Given the description of an element on the screen output the (x, y) to click on. 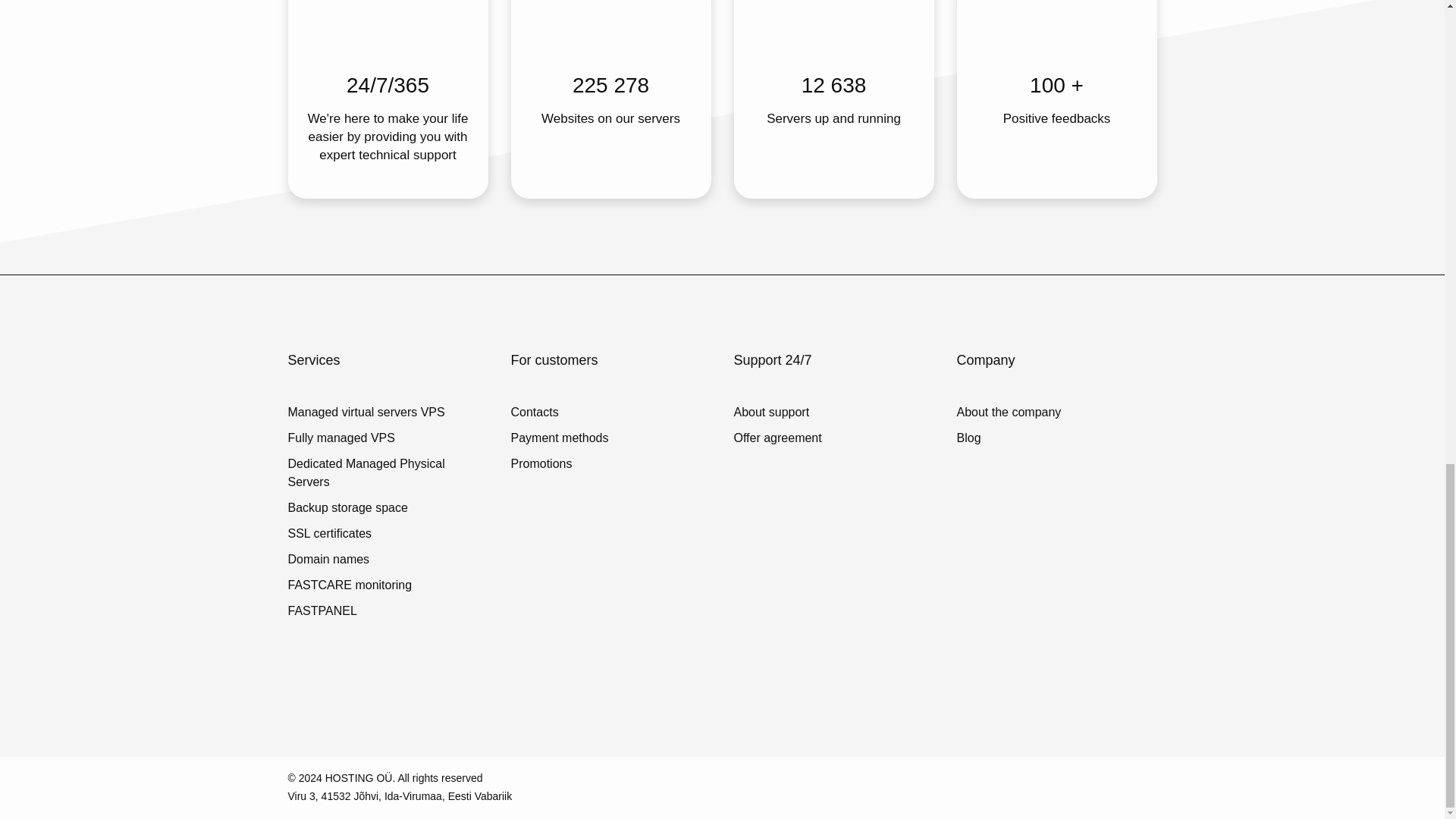
Offer agreement (777, 438)
About support (777, 412)
Promotions (559, 464)
Dedicated Managed Physical Servers (387, 473)
Blog (1008, 438)
Domain names (387, 559)
Fully managed VPS (387, 438)
About the company (1008, 412)
FASTCARE monitoring (387, 585)
